Given the description of an element on the screen output the (x, y) to click on. 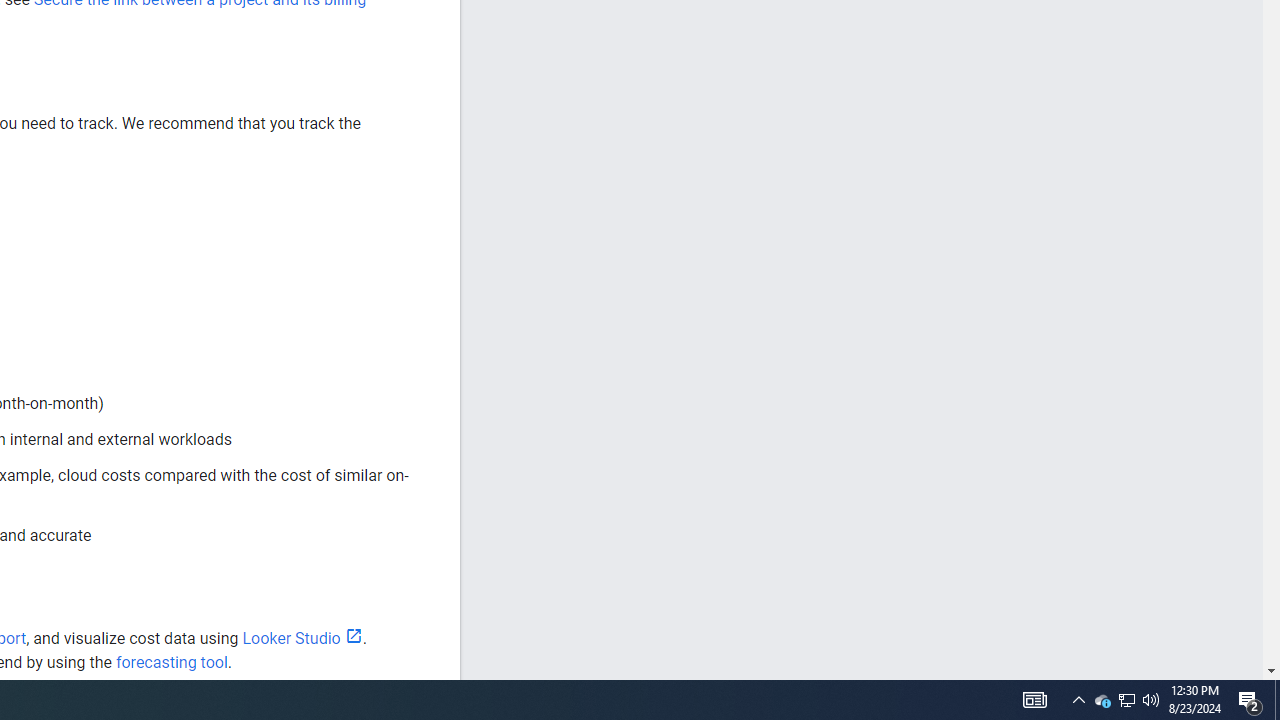
forecasting tool (171, 662)
Looker Studio (302, 638)
